Given the description of an element on the screen output the (x, y) to click on. 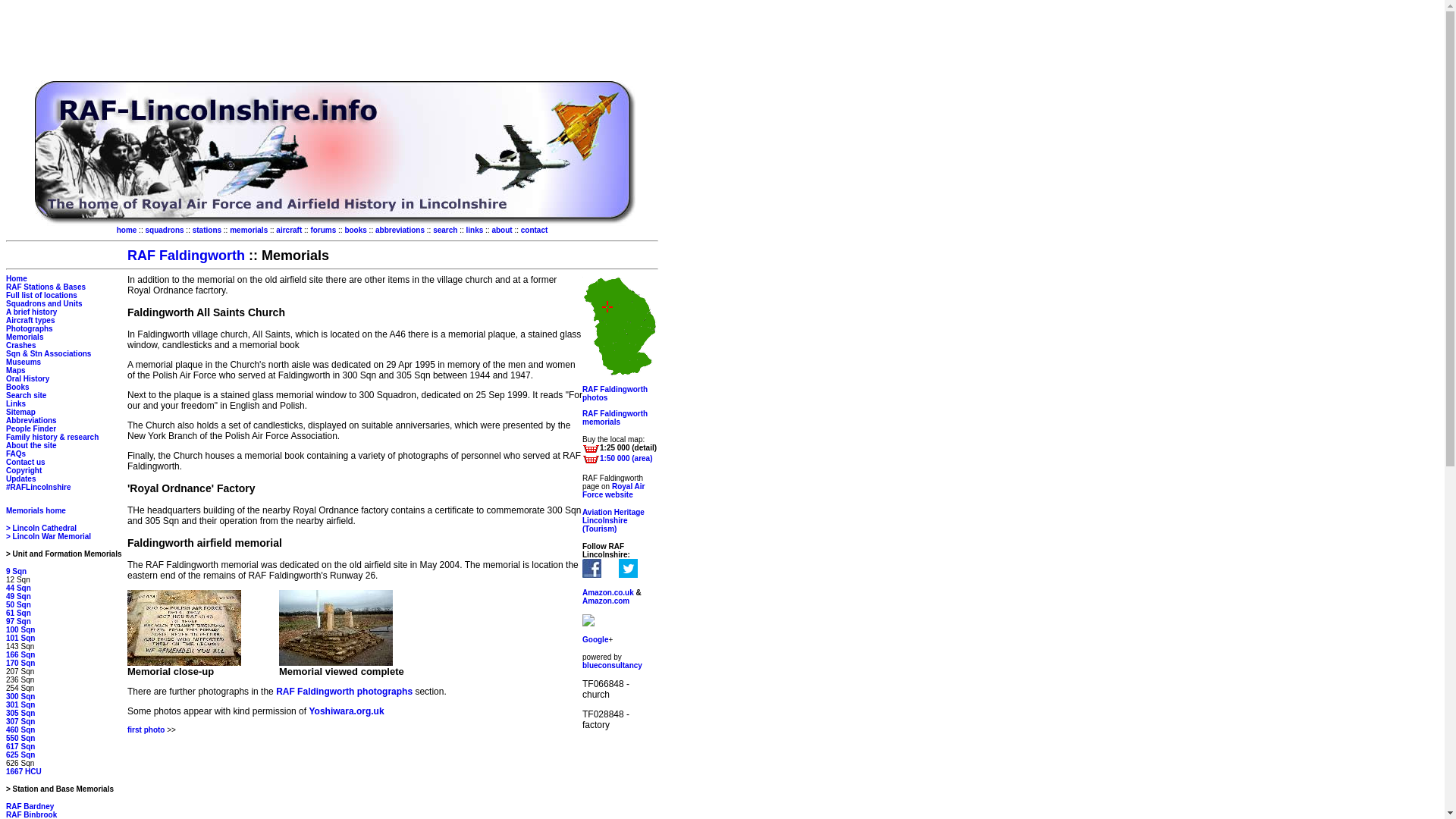
Maps (15, 370)
Sitemap (19, 411)
squadrons (163, 230)
Books (17, 387)
home (126, 230)
Photographs (28, 328)
memorials (248, 230)
Search site (25, 395)
contact (534, 230)
Home (16, 278)
